Given the description of an element on the screen output the (x, y) to click on. 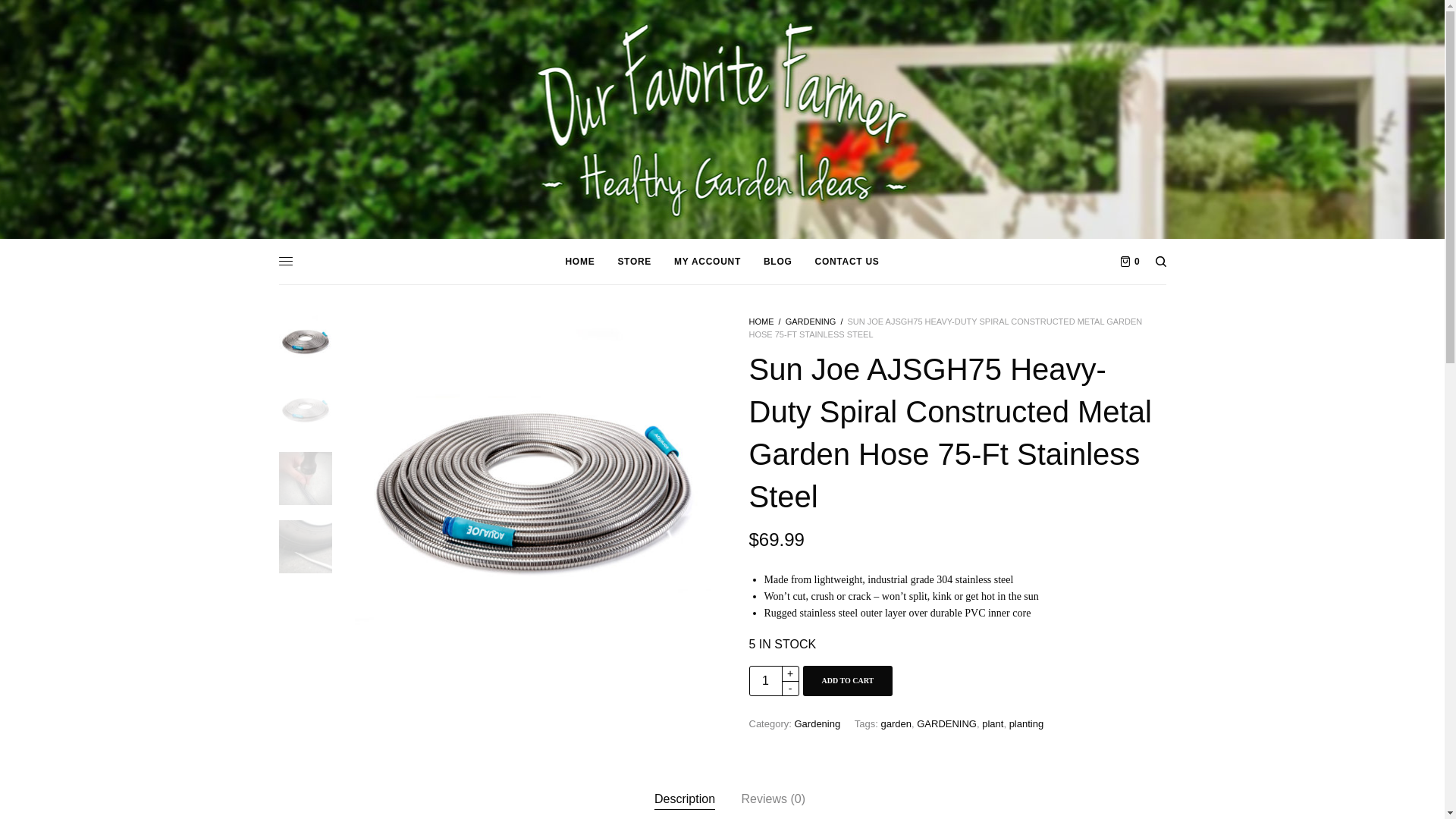
GARDENING (810, 320)
Gardening (816, 723)
- (788, 688)
CONTACT US (847, 261)
ADD TO CART (847, 680)
HOME (761, 320)
1 (766, 680)
garden (895, 723)
MY ACCOUNT (707, 261)
